Given the description of an element on the screen output the (x, y) to click on. 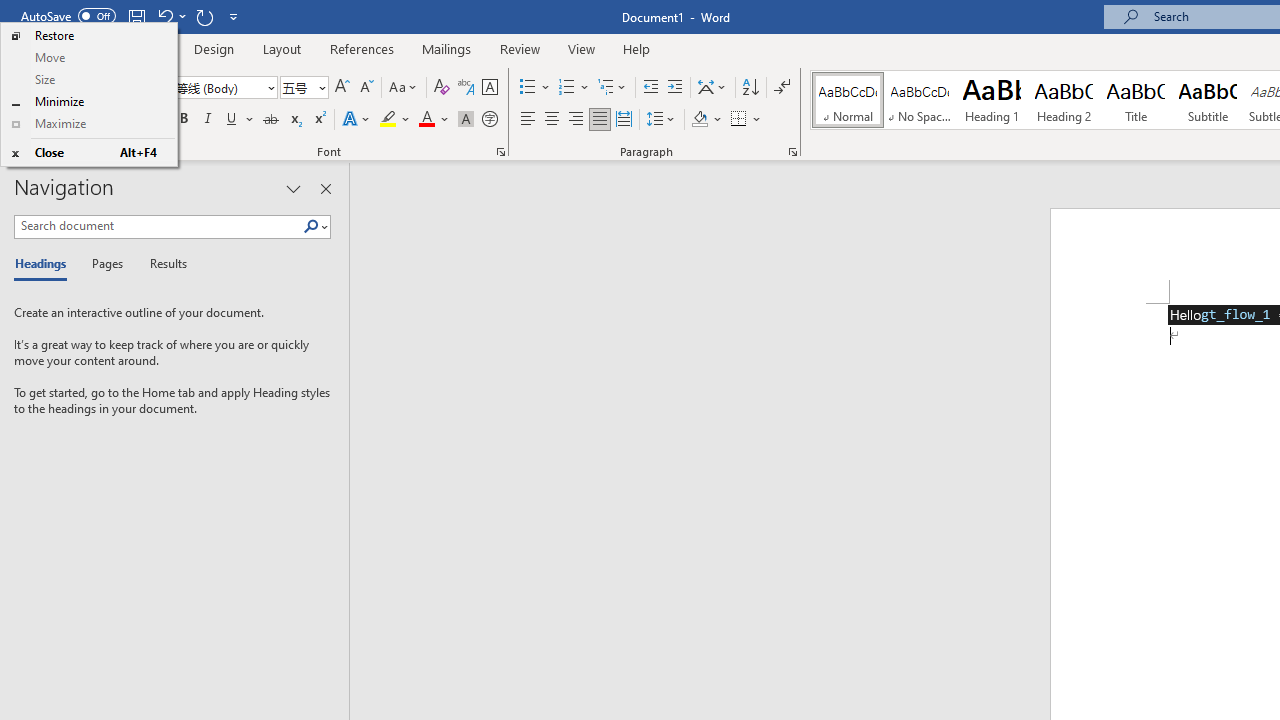
Maximize (88, 124)
Font Color Red (426, 119)
